Given the description of an element on the screen output the (x, y) to click on. 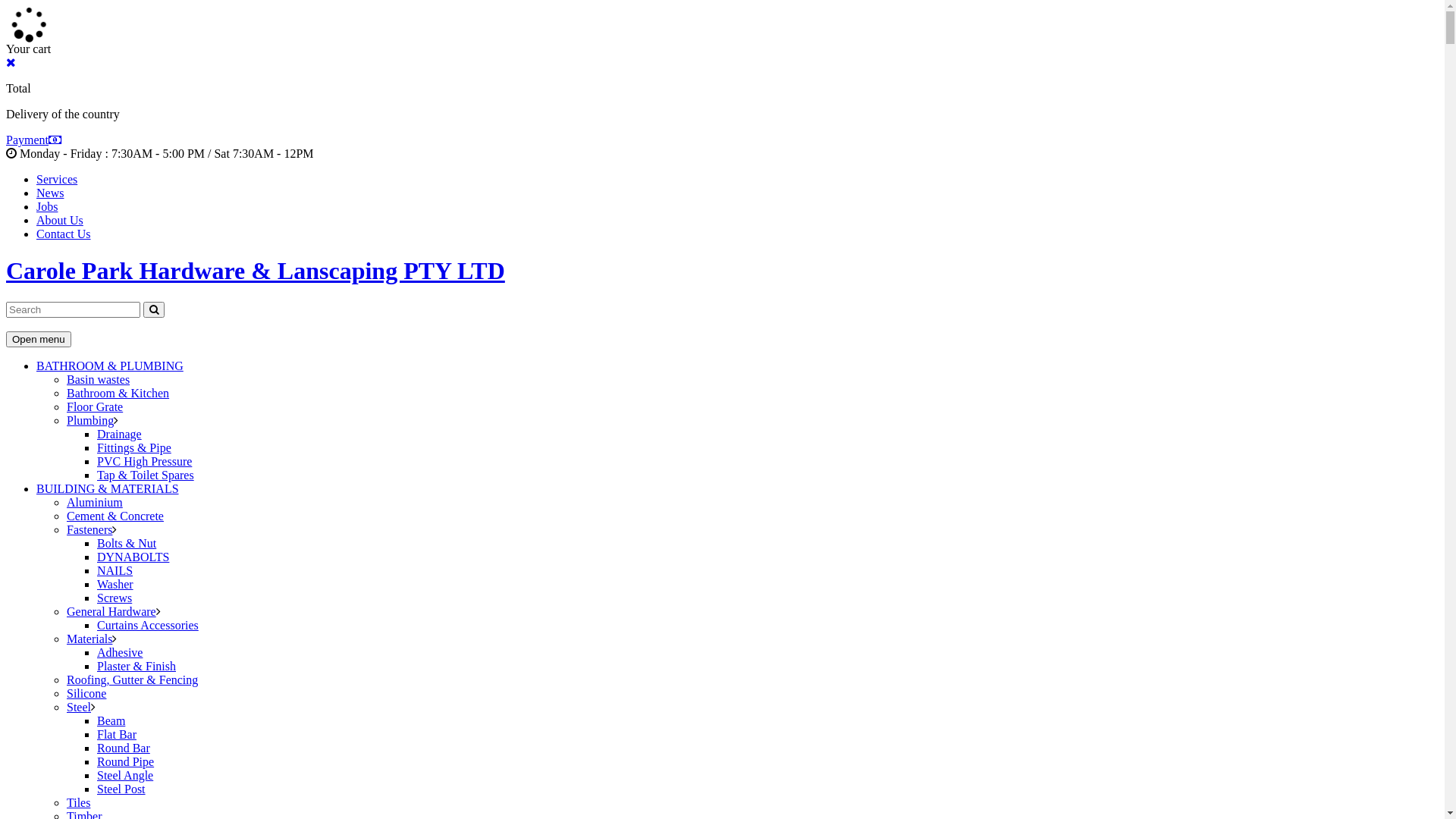
Fasteners Element type: text (89, 529)
Beam Element type: text (111, 720)
Plaster & Finish Element type: text (136, 665)
DYNABOLTS Element type: text (133, 556)
Services Element type: text (56, 178)
Plumbing Element type: text (89, 420)
Bolts & Nut Element type: text (126, 542)
Silicone Element type: text (86, 693)
Steel Element type: text (78, 706)
Basin wastes Element type: text (97, 379)
Carole Park Hardware & Lanscaping PTY LTD Element type: text (722, 271)
Drainage Element type: text (119, 433)
Adhesive Element type: text (119, 652)
Steel Angle Element type: text (125, 774)
Payment Element type: text (33, 139)
Fittings & Pipe Element type: text (134, 447)
Screws Element type: text (114, 597)
Bathroom & Kitchen Element type: text (117, 392)
News Element type: text (49, 192)
Washer Element type: text (115, 583)
Open menu Element type: text (38, 339)
Floor Grate Element type: text (94, 406)
BATHROOM & PLUMBING Element type: text (109, 365)
Contact Us Element type: text (63, 233)
NAILS Element type: text (114, 570)
Round Bar Element type: text (123, 747)
Curtains Accessories Element type: text (147, 624)
Flat Bar Element type: text (116, 734)
Round Pipe Element type: text (125, 761)
Cement & Concrete Element type: text (114, 515)
PVC High Pressure Element type: text (144, 461)
Tap & Toilet Spares Element type: text (145, 474)
General Hardware Element type: text (111, 611)
Steel Post Element type: text (121, 788)
Materials Element type: text (89, 638)
Roofing, Gutter & Fencing Element type: text (131, 679)
BUILDING & MATERIALS Element type: text (107, 488)
Aluminium Element type: text (94, 501)
About Us Element type: text (59, 219)
Jobs Element type: text (46, 206)
Tiles Element type: text (78, 802)
